Given the description of an element on the screen output the (x, y) to click on. 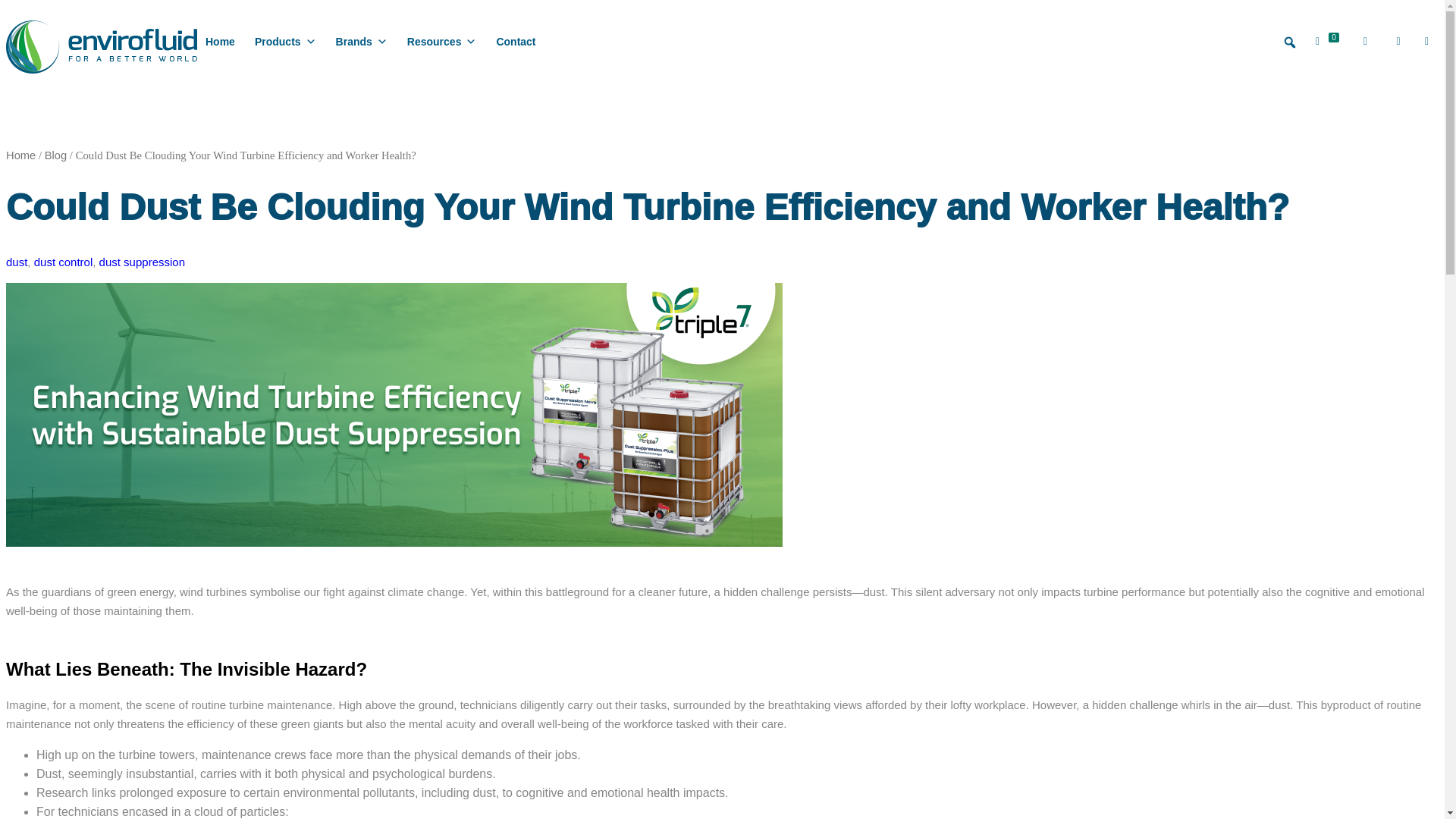
Brands (361, 41)
Home (219, 41)
Resources (441, 41)
Products (285, 41)
